Given the description of an element on the screen output the (x, y) to click on. 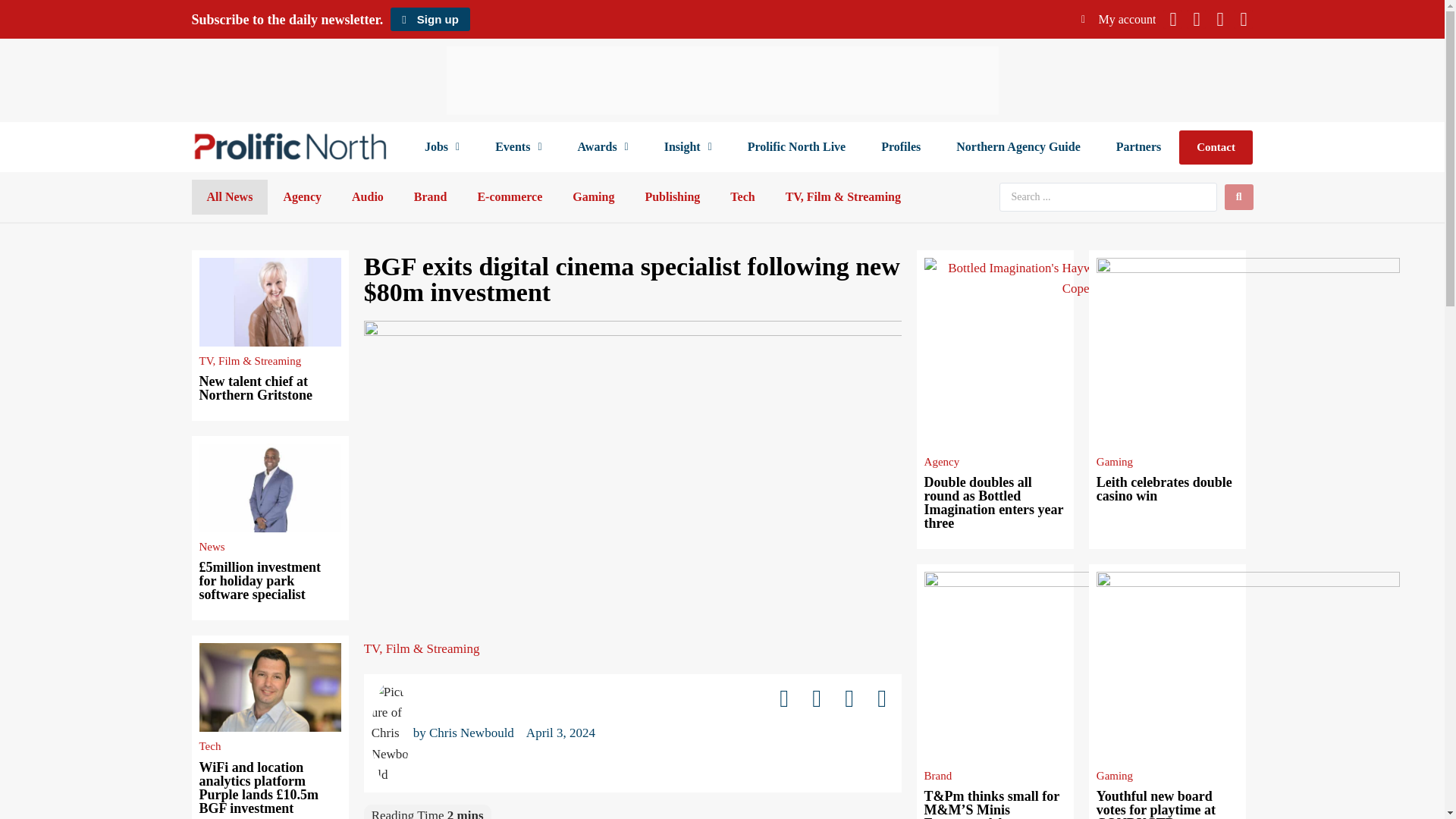
Jobs (441, 146)
Events (518, 146)
Sign up (429, 19)
My account (1118, 19)
Awards (602, 146)
